Given the description of an element on the screen output the (x, y) to click on. 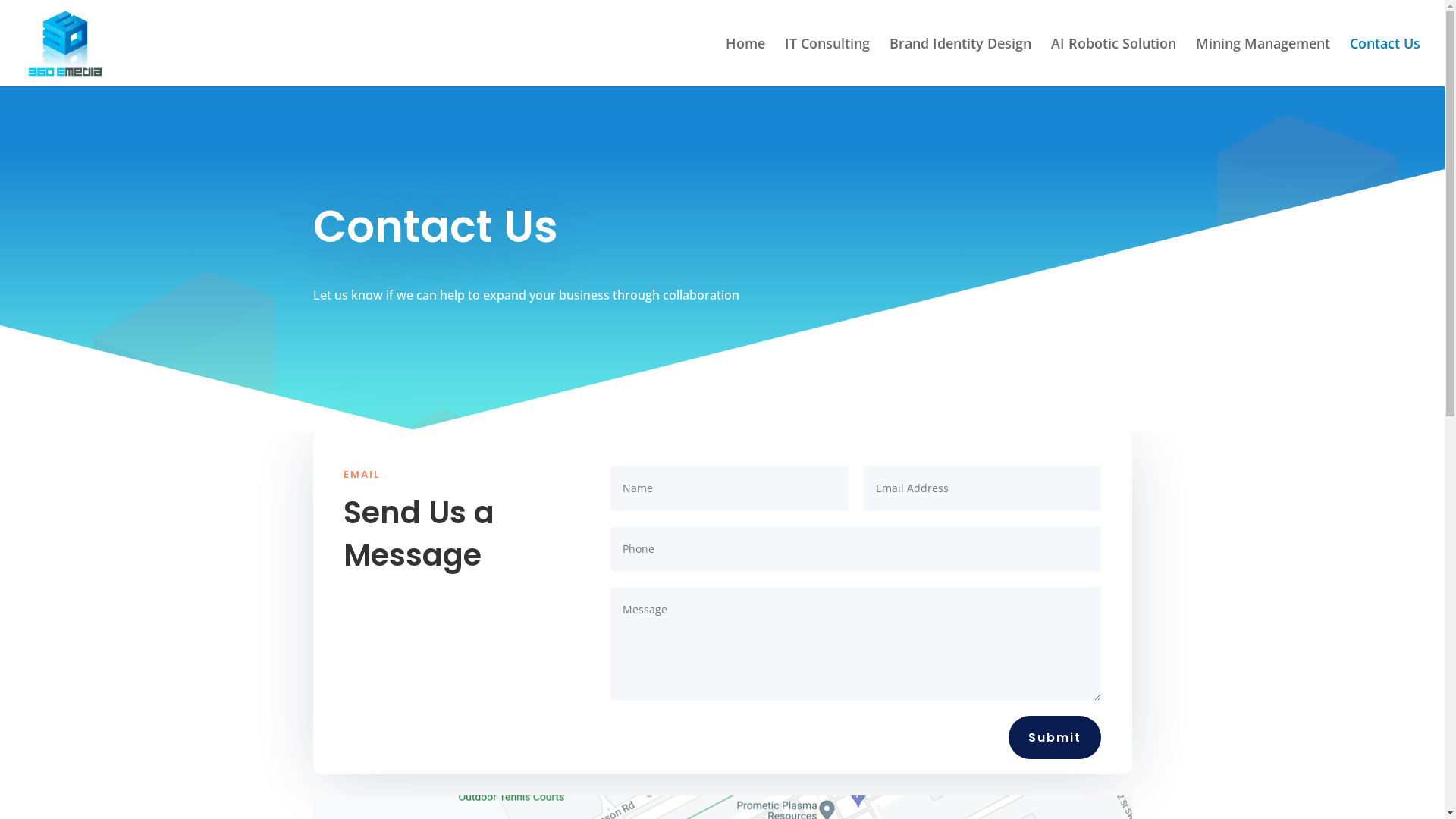
IT Consulting Element type: text (826, 61)
Home Element type: text (745, 61)
Brand Identity Design Element type: text (960, 61)
Mining Management Element type: text (1262, 61)
Contact Us Element type: text (1384, 61)
Submit Element type: text (1054, 737)
AI Robotic Solution Element type: text (1113, 61)
